Given the description of an element on the screen output the (x, y) to click on. 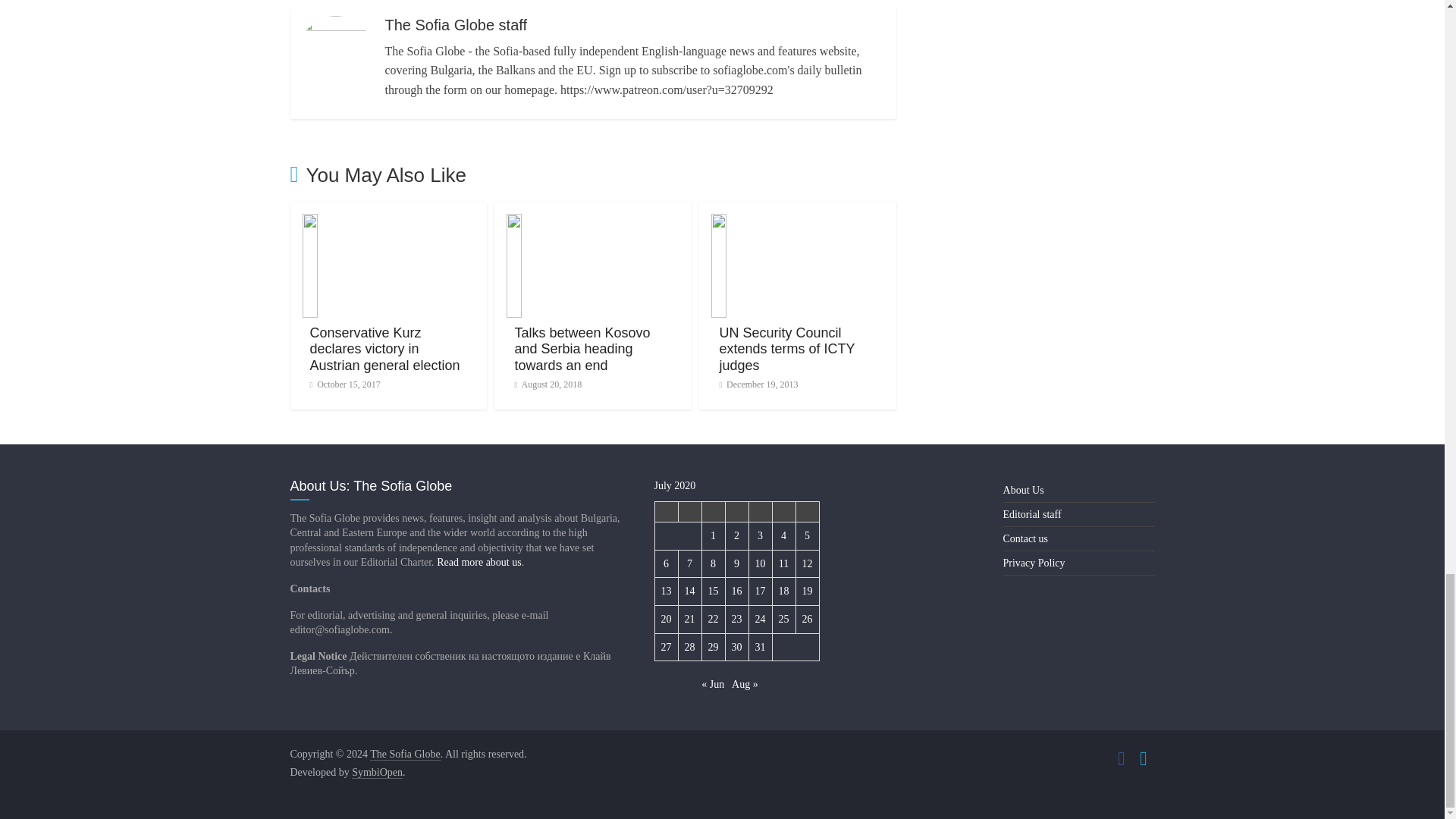
December 19, 2013 (758, 384)
Talks between Kosovo and Serbia heading towards an end (581, 349)
Talks between Kosovo and Serbia heading towards an end (581, 349)
UN Security Council extends terms of ICTY judges (786, 349)
10:45 AM (546, 384)
11:12 PM (344, 384)
October 15, 2017 (344, 384)
August 20, 2018 (546, 384)
Talks between Kosovo and Serbia heading towards an end (592, 223)
